Given the description of an element on the screen output the (x, y) to click on. 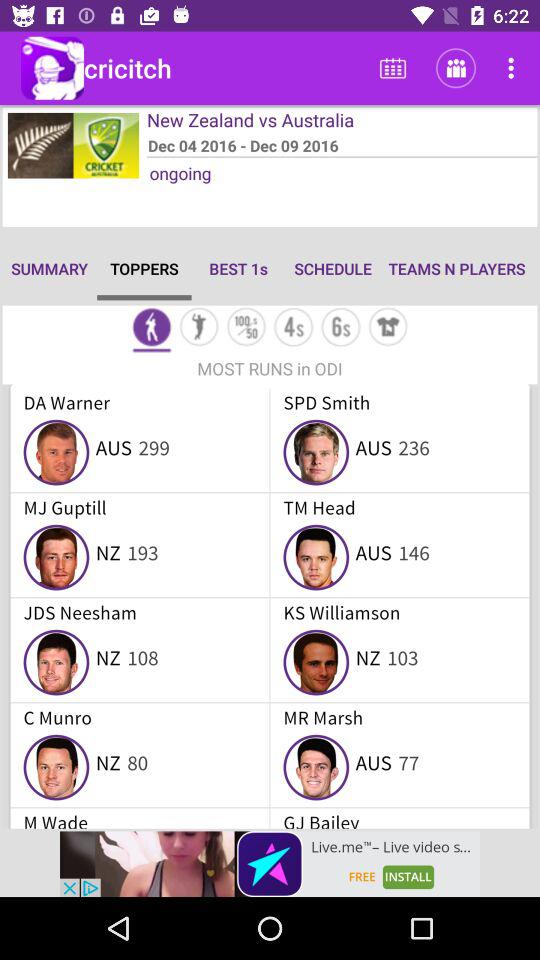
menu selection (198, 328)
